Given the description of an element on the screen output the (x, y) to click on. 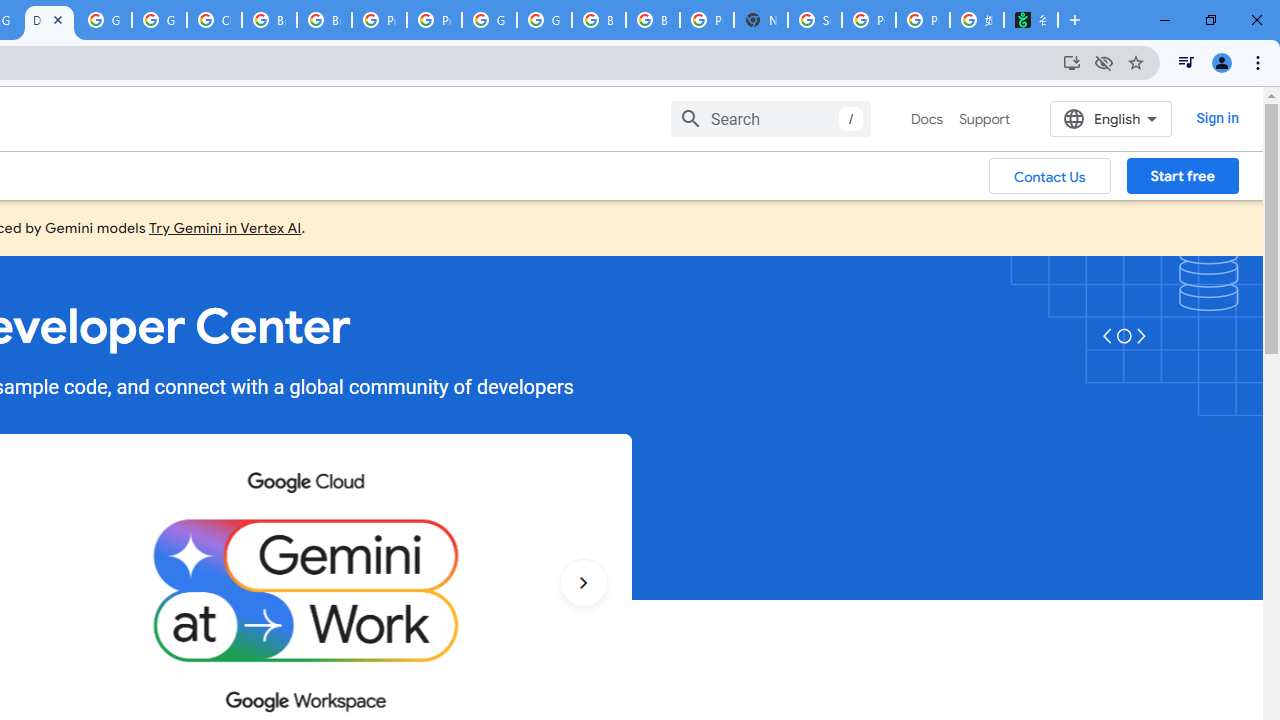
Google Cloud Platform (489, 20)
Support (984, 119)
Install Google Cloud (1071, 62)
Google Cloud Platform (544, 20)
Docs (927, 119)
Sign in - Google Accounts (815, 20)
